Given the description of an element on the screen output the (x, y) to click on. 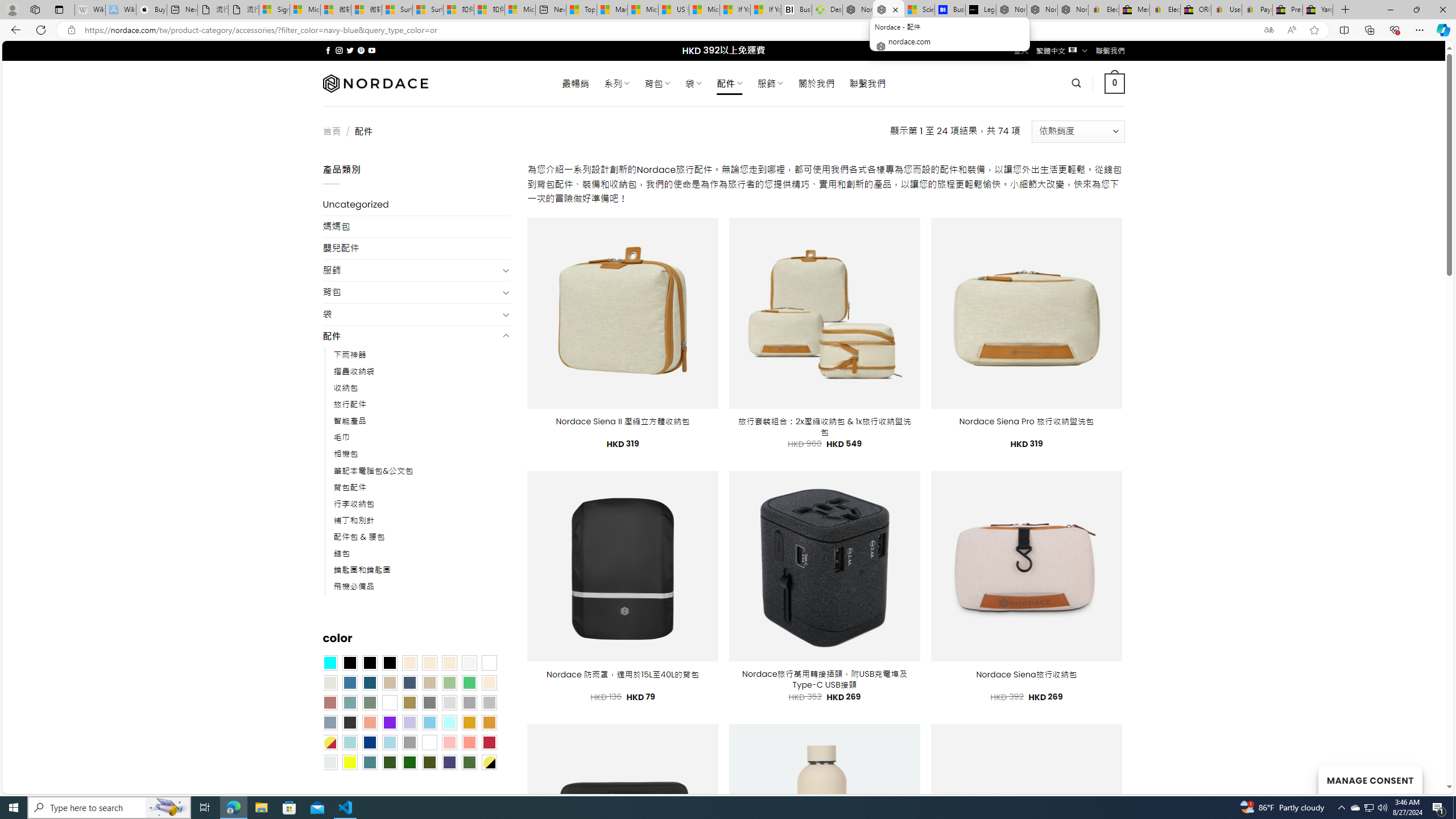
  0   (1115, 83)
Follow on Twitter (349, 50)
Follow on YouTube (371, 50)
